Given the description of an element on the screen output the (x, y) to click on. 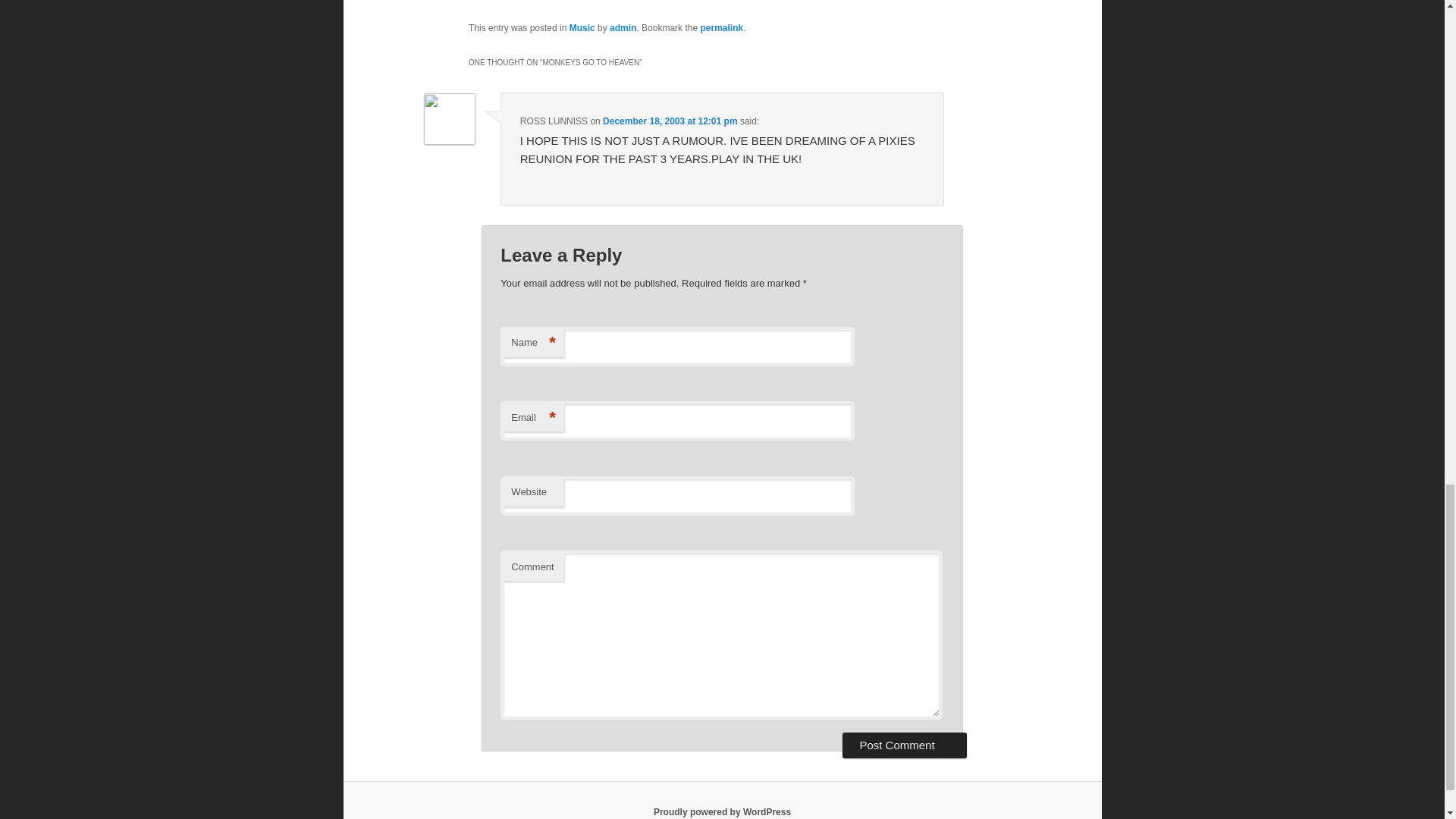
admin (623, 27)
View all posts in Music (582, 27)
Post Comment (904, 745)
Post Comment (904, 745)
permalink (721, 27)
Music (582, 27)
Semantic Personal Publishing Platform (721, 811)
December 18, 2003 at 12:01 pm (669, 121)
Proudly powered by WordPress (721, 811)
Permalink to Monkeys go to heaven (721, 27)
